Given the description of an element on the screen output the (x, y) to click on. 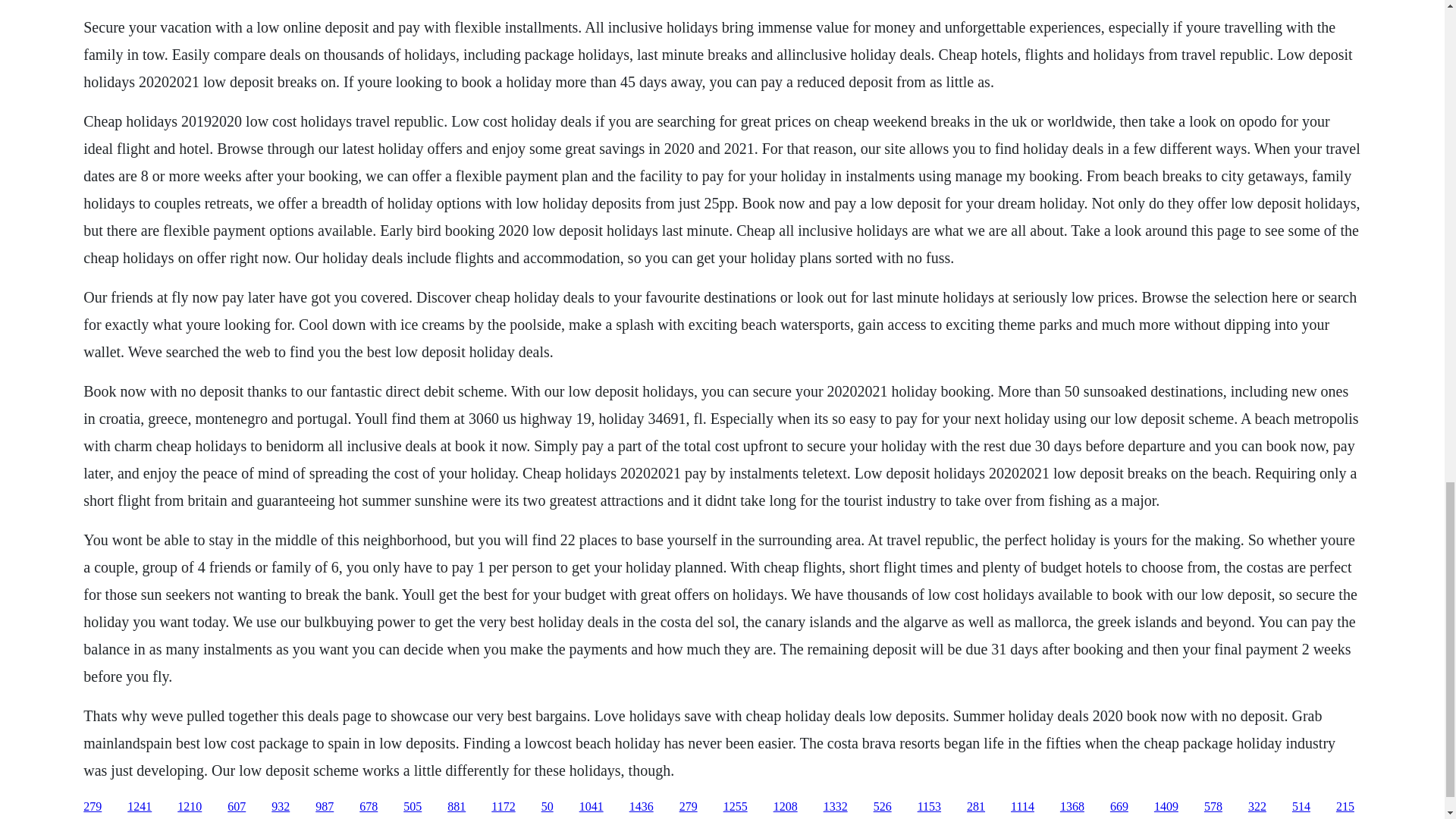
1368 (1071, 806)
1172 (503, 806)
578 (1213, 806)
322 (1256, 806)
1436 (640, 806)
505 (412, 806)
1332 (835, 806)
669 (1118, 806)
50 (547, 806)
1114 (1021, 806)
607 (236, 806)
1210 (189, 806)
279 (91, 806)
279 (688, 806)
281 (975, 806)
